Given the description of an element on the screen output the (x, y) to click on. 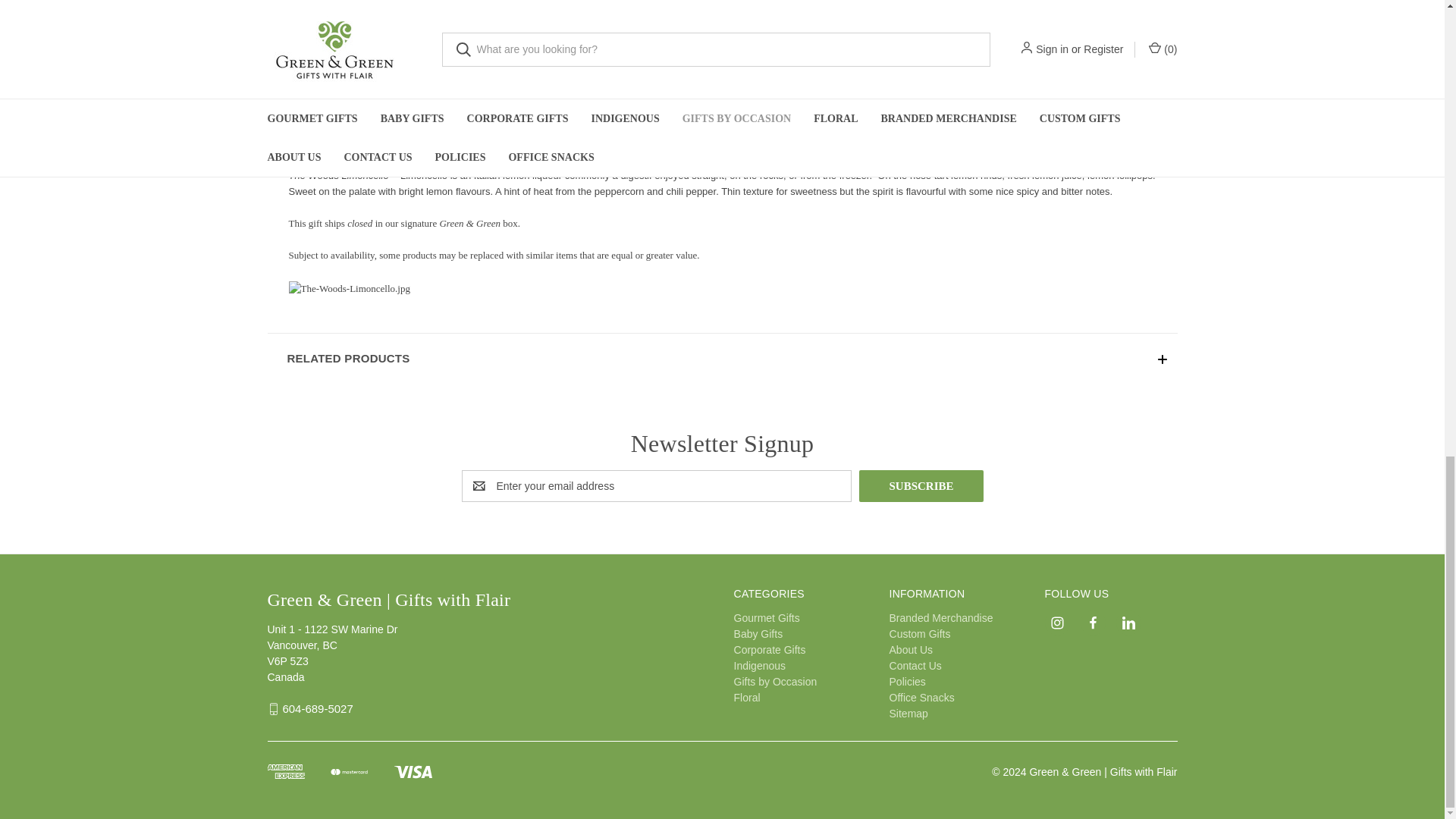
Subscribe (920, 486)
